Given the description of an element on the screen output the (x, y) to click on. 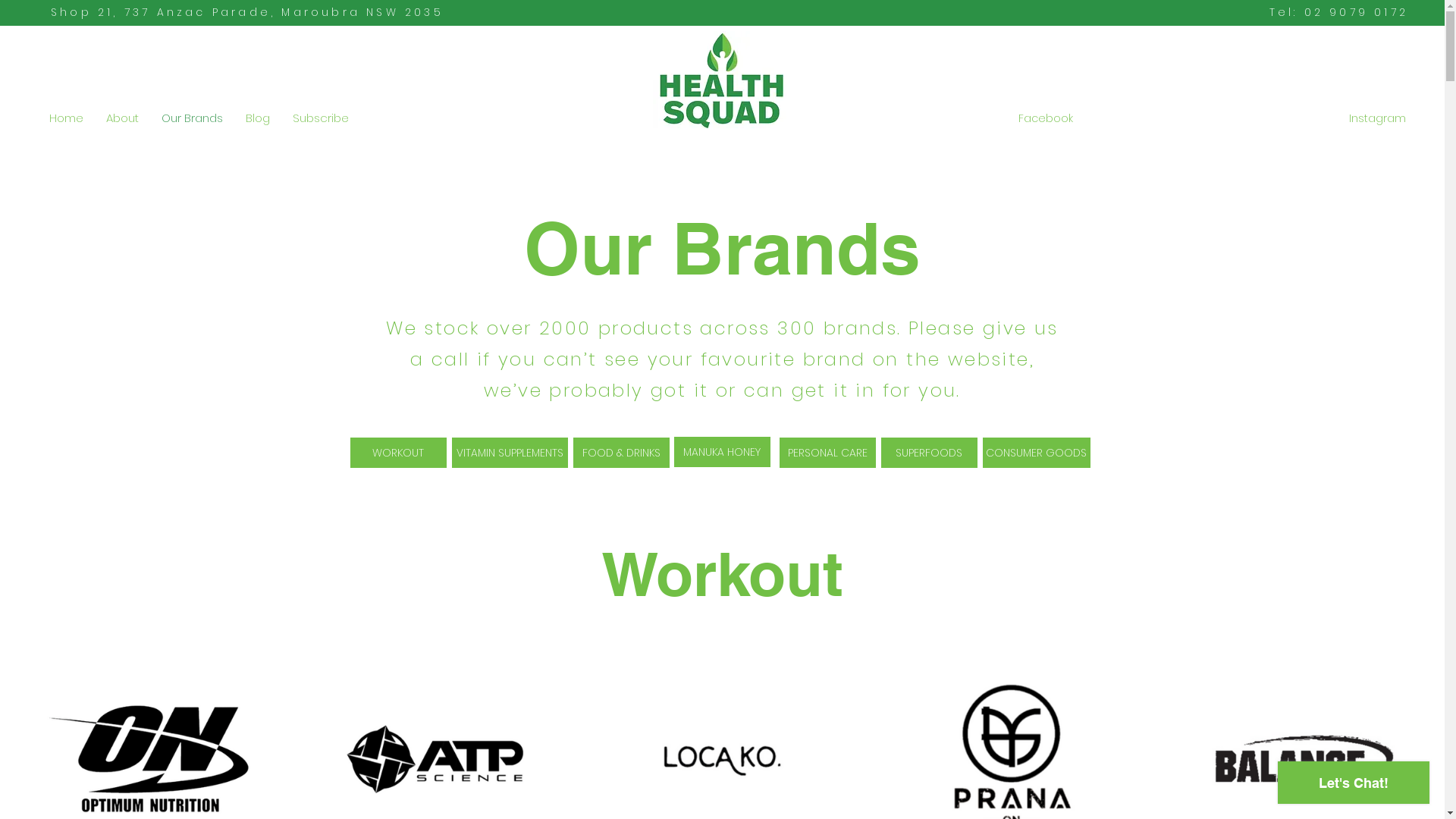
Instagram Element type: text (1377, 118)
PERSONAL CARE Element type: text (827, 452)
VITAMIN SUPPLEMENTS Element type: text (509, 452)
Home Element type: text (65, 117)
Subscribe Element type: text (320, 117)
Our Brands Element type: text (192, 117)
About Element type: text (122, 117)
Facebook Element type: text (1045, 118)
Blog Element type: text (257, 117)
MANUKA HONEY Element type: text (721, 451)
CONSUMER GOODS Element type: text (1036, 452)
FOOD & DRINKS Element type: text (621, 452)
WORKOUT Element type: text (398, 452)
Tel: 02 9079 0172 Element type: text (1338, 11)
SUPERFOODS Element type: text (929, 452)
